Given the description of an element on the screen output the (x, y) to click on. 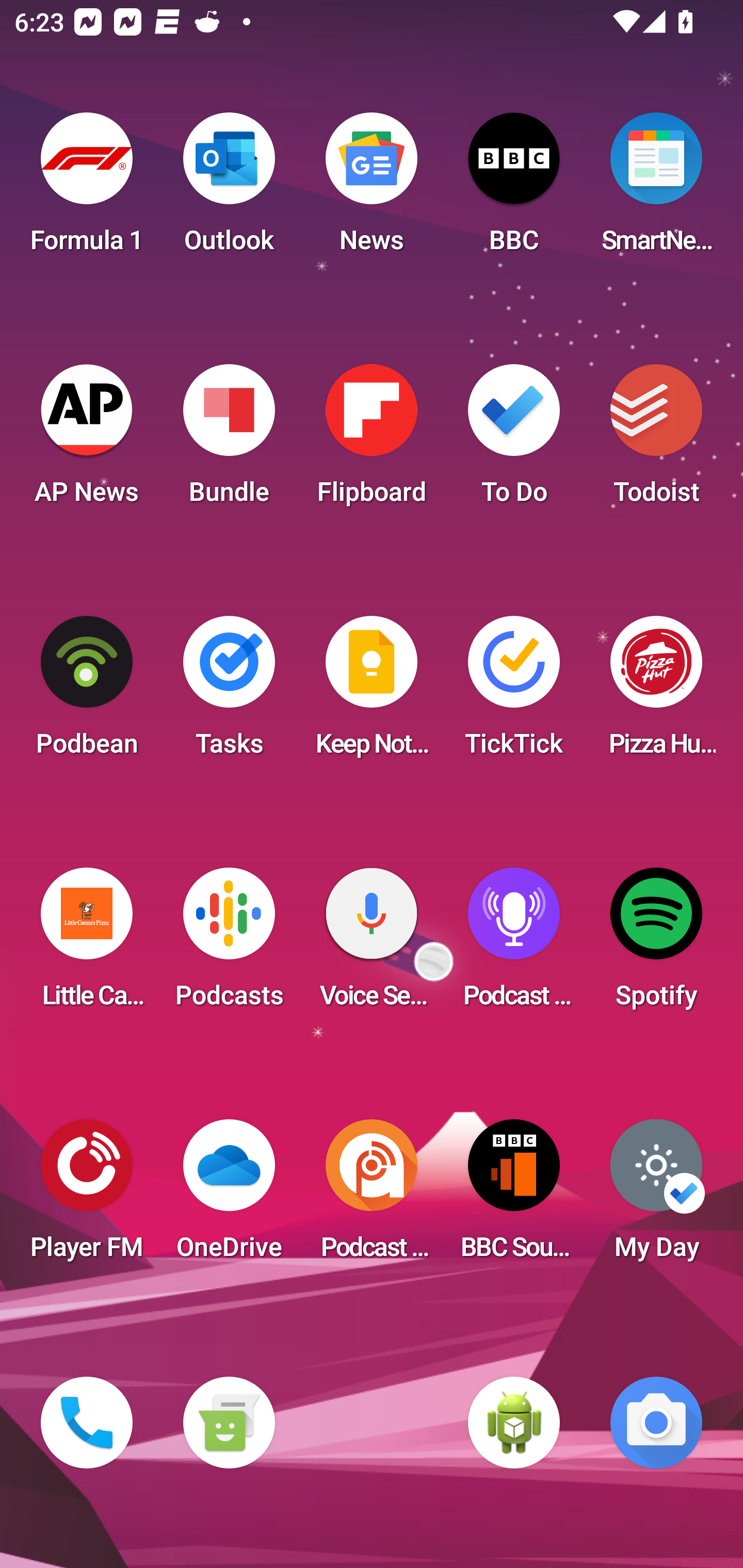
Formula 1 (86, 188)
Outlook (228, 188)
News (371, 188)
BBC (513, 188)
SmartNews (656, 188)
AP News (86, 440)
Bundle (228, 440)
Flipboard (371, 440)
To Do (513, 440)
Todoist (656, 440)
Podbean (86, 692)
Tasks (228, 692)
Keep Notes (371, 692)
TickTick (513, 692)
Pizza Hut HK & Macau (656, 692)
Little Caesars Pizza (86, 943)
Podcasts (228, 943)
Voice Search (371, 943)
Podcast Player (513, 943)
Spotify (656, 943)
Player FM (86, 1195)
OneDrive (228, 1195)
Podcast Addict (371, 1195)
BBC Sounds (513, 1195)
My Day (656, 1195)
Phone (86, 1422)
Messaging (228, 1422)
WebView Browser Tester (513, 1422)
Camera (656, 1422)
